Given the description of an element on the screen output the (x, y) to click on. 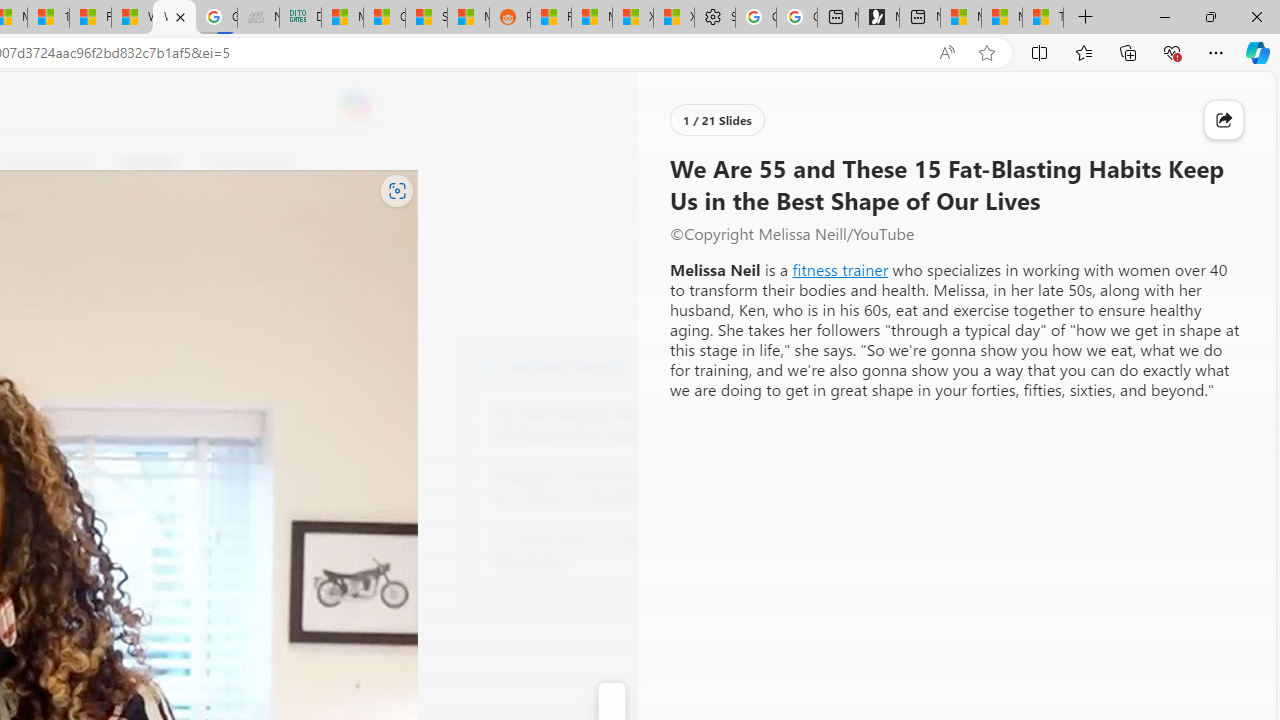
14 Common Myths Debunked By Scientific Facts (48, 17)
Visit Body Network website (733, 364)
Body Network (486, 364)
fitness trainer (840, 269)
